Given the description of an element on the screen output the (x, y) to click on. 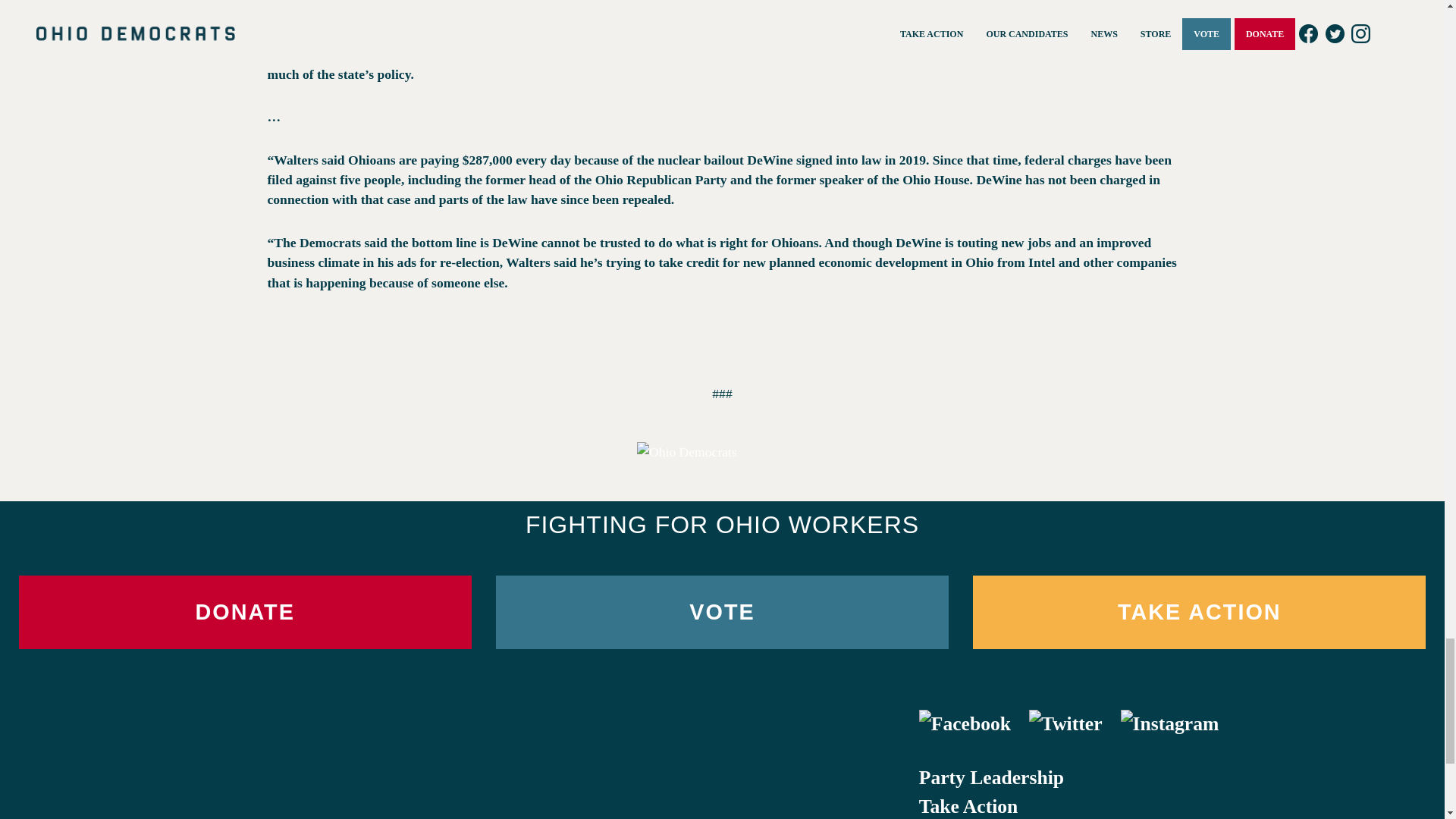
Take Action (967, 806)
Party Leadership (991, 777)
TAKE ACTION (1198, 612)
VOTE (722, 612)
DONATE (243, 612)
